Given the description of an element on the screen output the (x, y) to click on. 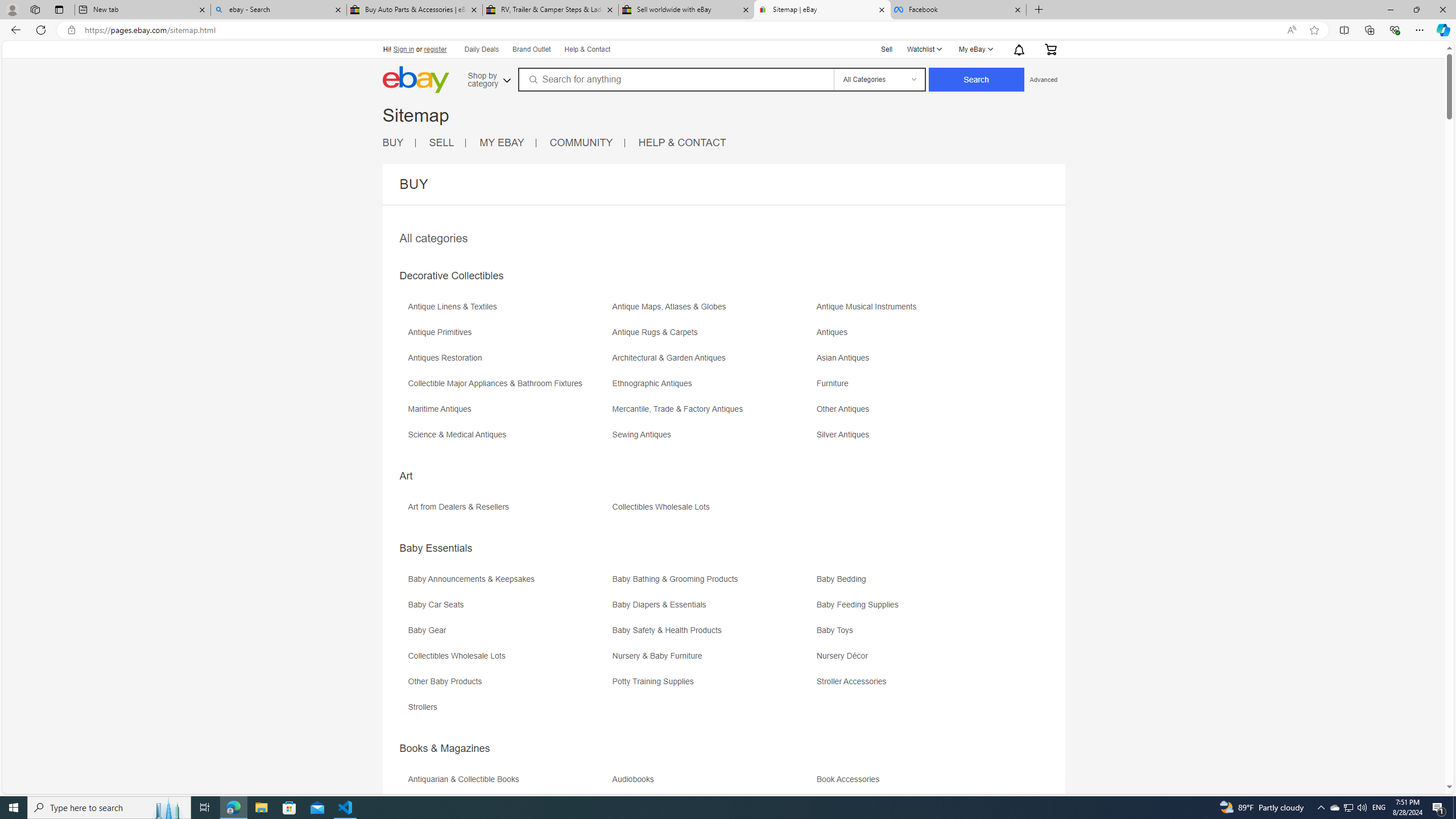
Nursery & Baby Furniture (712, 659)
MY EBAY (507, 142)
Antiquarian & Collectible Books (508, 783)
Stroller Accessories (917, 685)
Antiques (917, 336)
eBay Logo (415, 79)
My eBayExpand My eBay (975, 49)
Audiobooks (635, 779)
All categories (432, 237)
Antique Linens & Textiles (508, 310)
Antiques (834, 332)
